Given the description of an element on the screen output the (x, y) to click on. 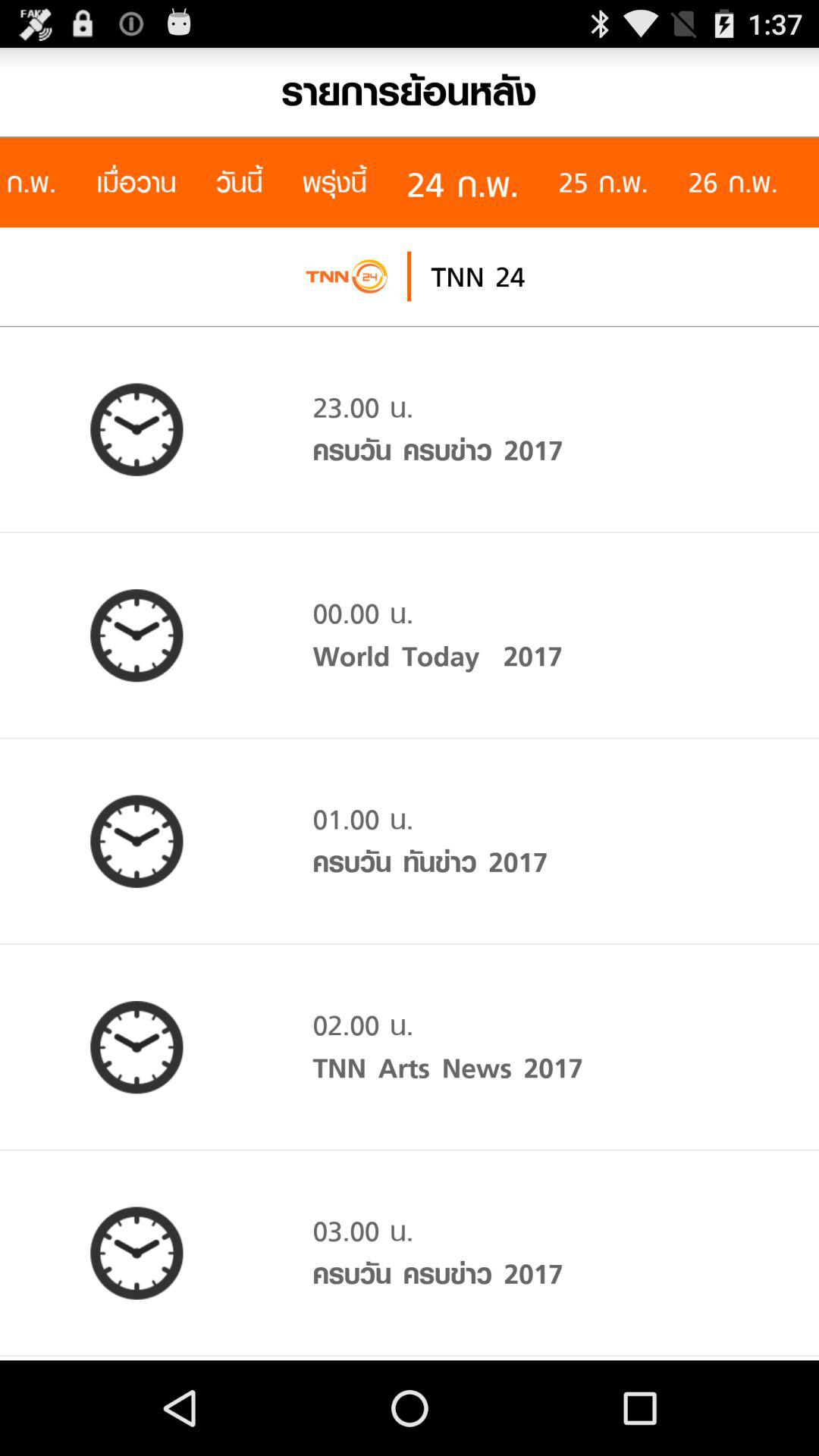
swipe until world today  2017 icon (437, 656)
